Given the description of an element on the screen output the (x, y) to click on. 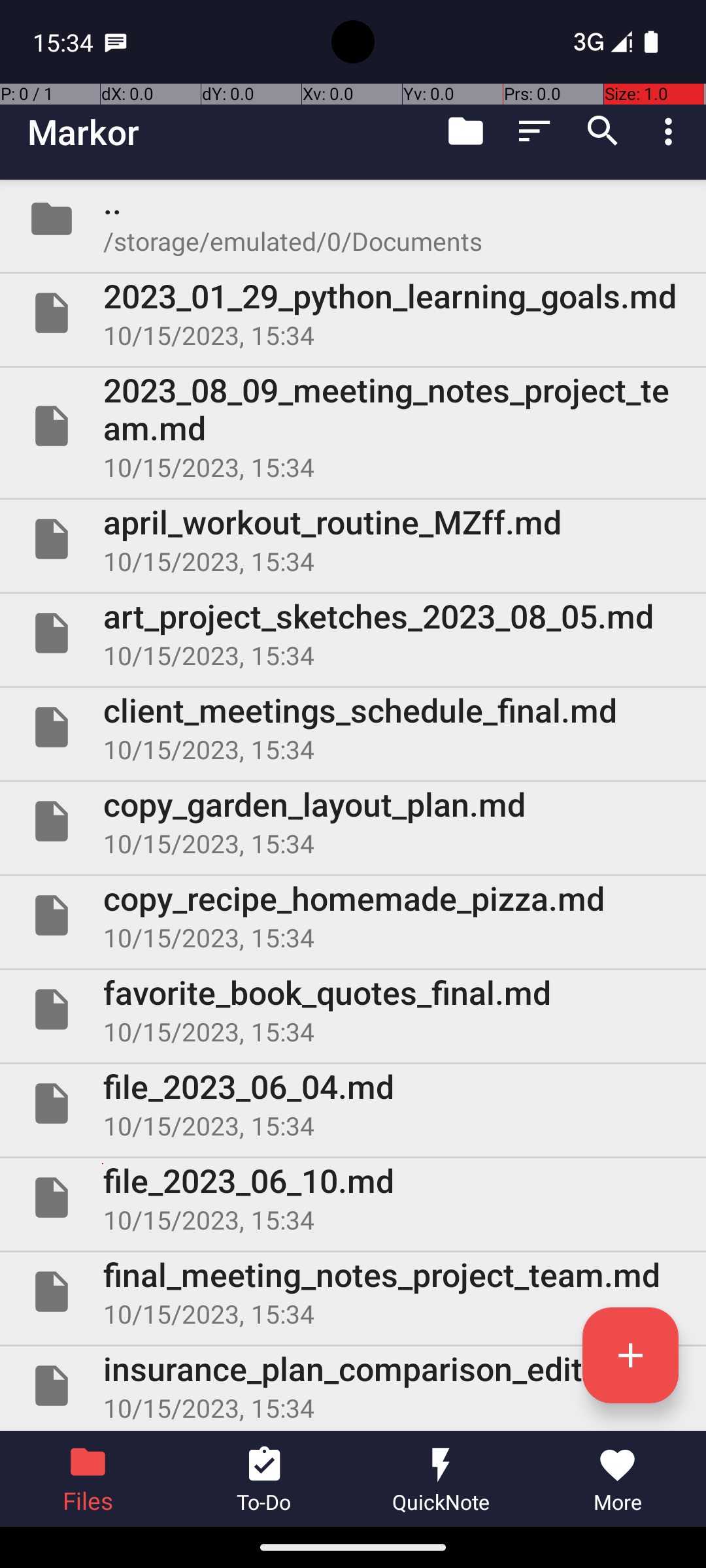
File 2023_01_29_python_learning_goals.md  Element type: android.widget.LinearLayout (353, 312)
File 2023_08_09_meeting_notes_project_team.md  Element type: android.widget.LinearLayout (353, 425)
File april_workout_routine_MZff.md  Element type: android.widget.LinearLayout (353, 538)
File art_project_sketches_2023_08_05.md  Element type: android.widget.LinearLayout (353, 632)
File client_meetings_schedule_final.md  Element type: android.widget.LinearLayout (353, 726)
File copy_garden_layout_plan.md  Element type: android.widget.LinearLayout (353, 821)
File copy_recipe_homemade_pizza.md  Element type: android.widget.LinearLayout (353, 915)
File favorite_book_quotes_final.md  Element type: android.widget.LinearLayout (353, 1009)
File file_2023_06_04.md  Element type: android.widget.LinearLayout (353, 1103)
File file_2023_06_10.md  Element type: android.widget.LinearLayout (353, 1197)
File final_meeting_notes_project_team.md  Element type: android.widget.LinearLayout (353, 1291)
File insurance_plan_comparison_edited.md  Element type: android.widget.LinearLayout (353, 1385)
